Given the description of an element on the screen output the (x, y) to click on. 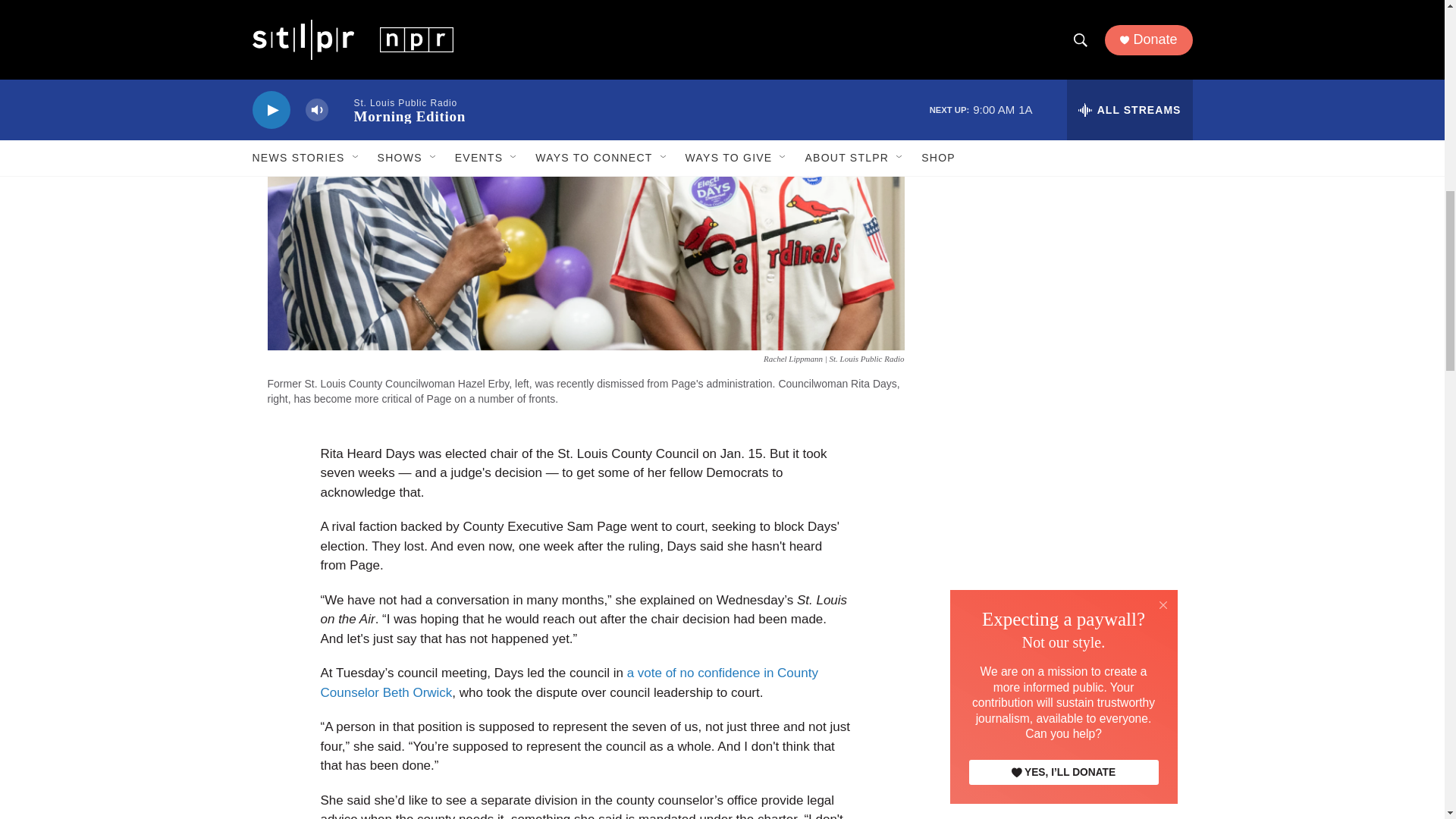
3rd party ad content (1062, 525)
3rd party ad content (1062, 90)
3rd party ad content (1062, 306)
